Given the description of an element on the screen output the (x, y) to click on. 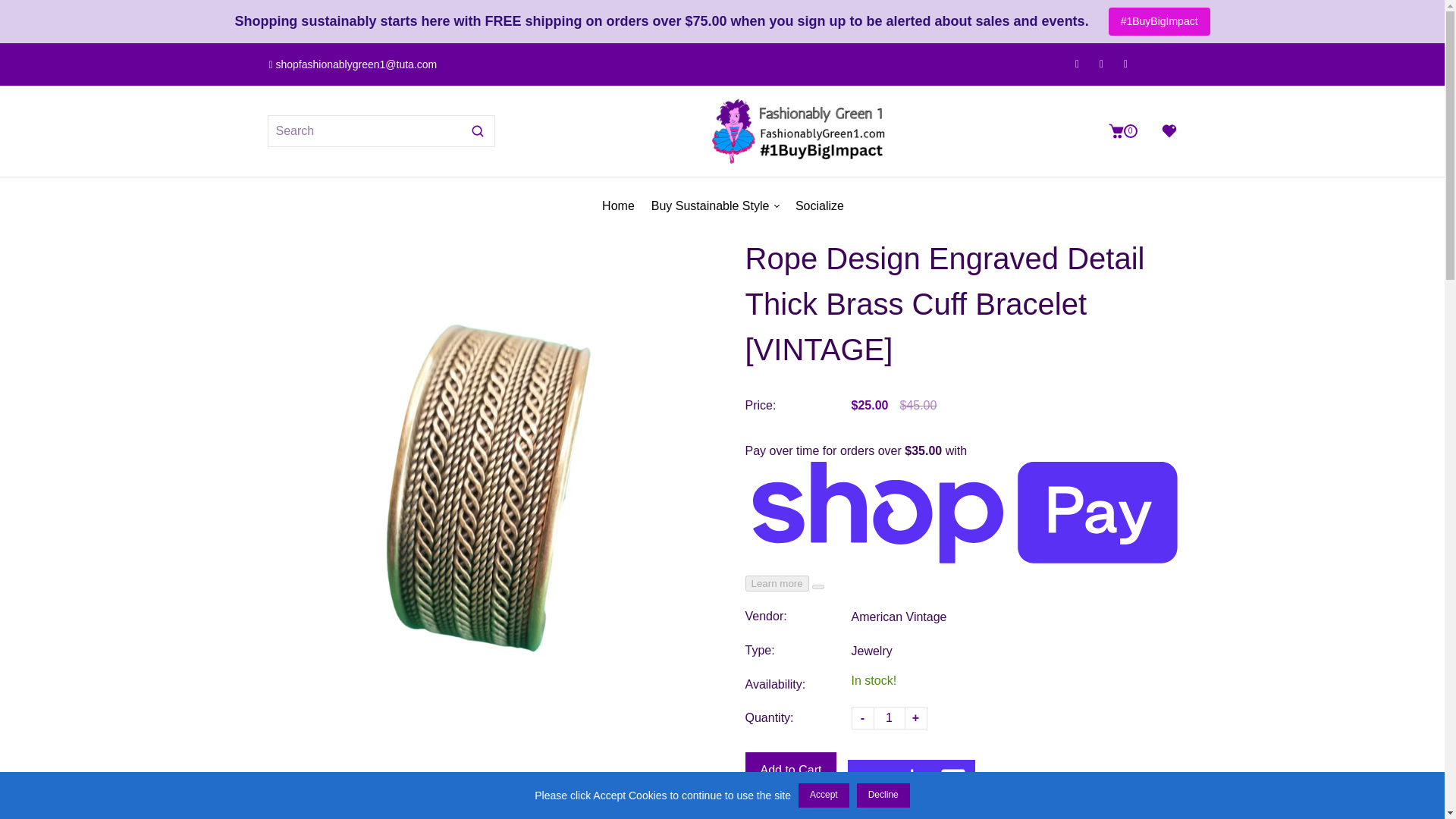
Buy Sustainable Style (714, 206)
Wishlist (1163, 130)
Twitter (1077, 64)
Tumblr (1126, 64)
Twitter (1077, 64)
Tumblr (1126, 64)
Instagram (1128, 130)
American Vintage (1101, 64)
1 (898, 617)
Instagram (888, 717)
